Given the description of an element on the screen output the (x, y) to click on. 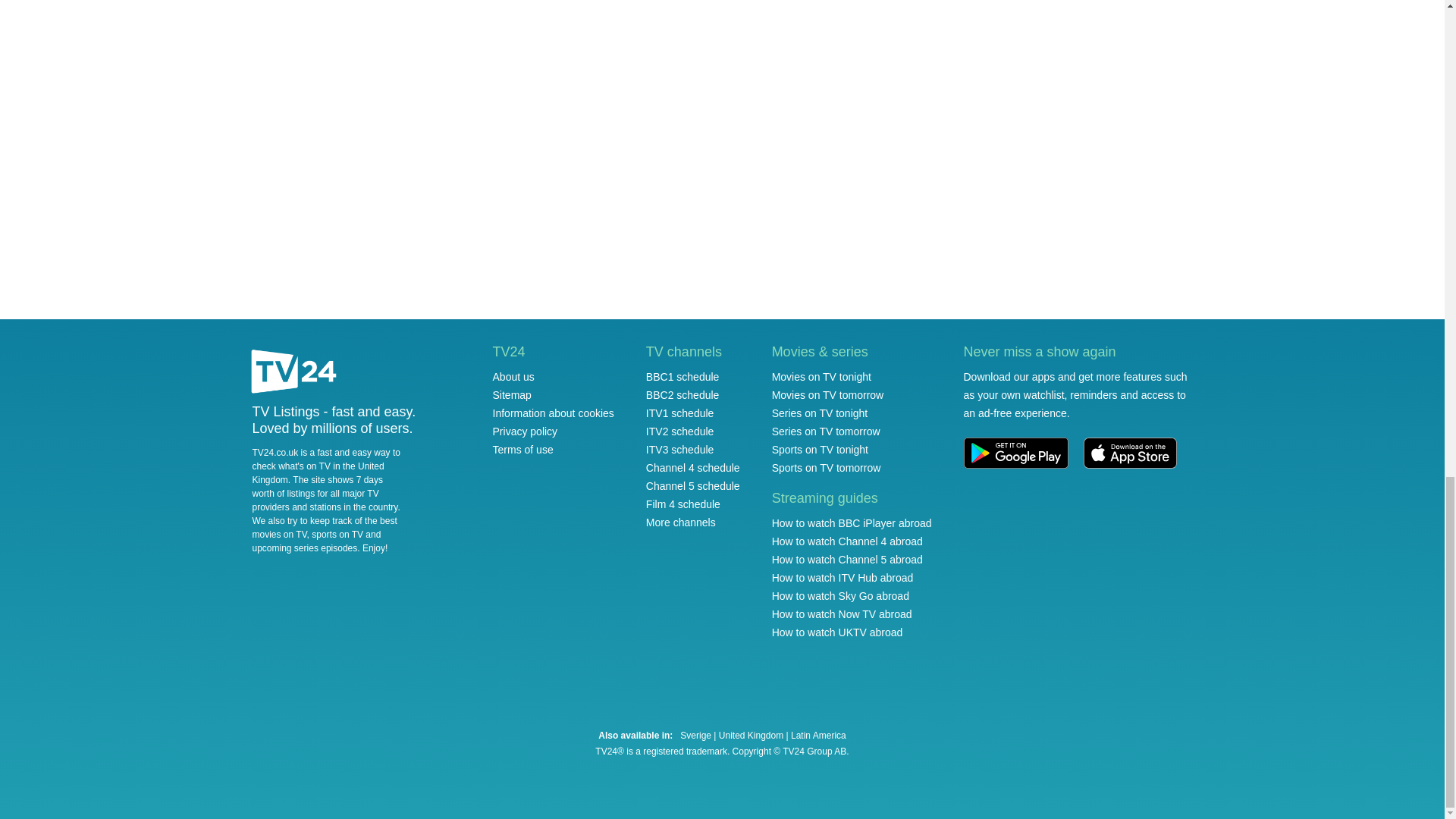
Channel 5 schedule (692, 485)
Channel 4 schedule (692, 467)
ITV1 schedule (680, 413)
ITV2 schedule (680, 431)
BBC1 schedule (682, 377)
sports on TV (336, 534)
ITV3 schedule (680, 449)
upcoming series episodes (303, 547)
Channel 5 schedule (692, 485)
More channels (681, 522)
BBC1 schedule (682, 377)
ITV1 schedule (680, 413)
the best movies on TV (323, 527)
Film 4 schedule (683, 503)
ITV2 schedule (680, 431)
